Given the description of an element on the screen output the (x, y) to click on. 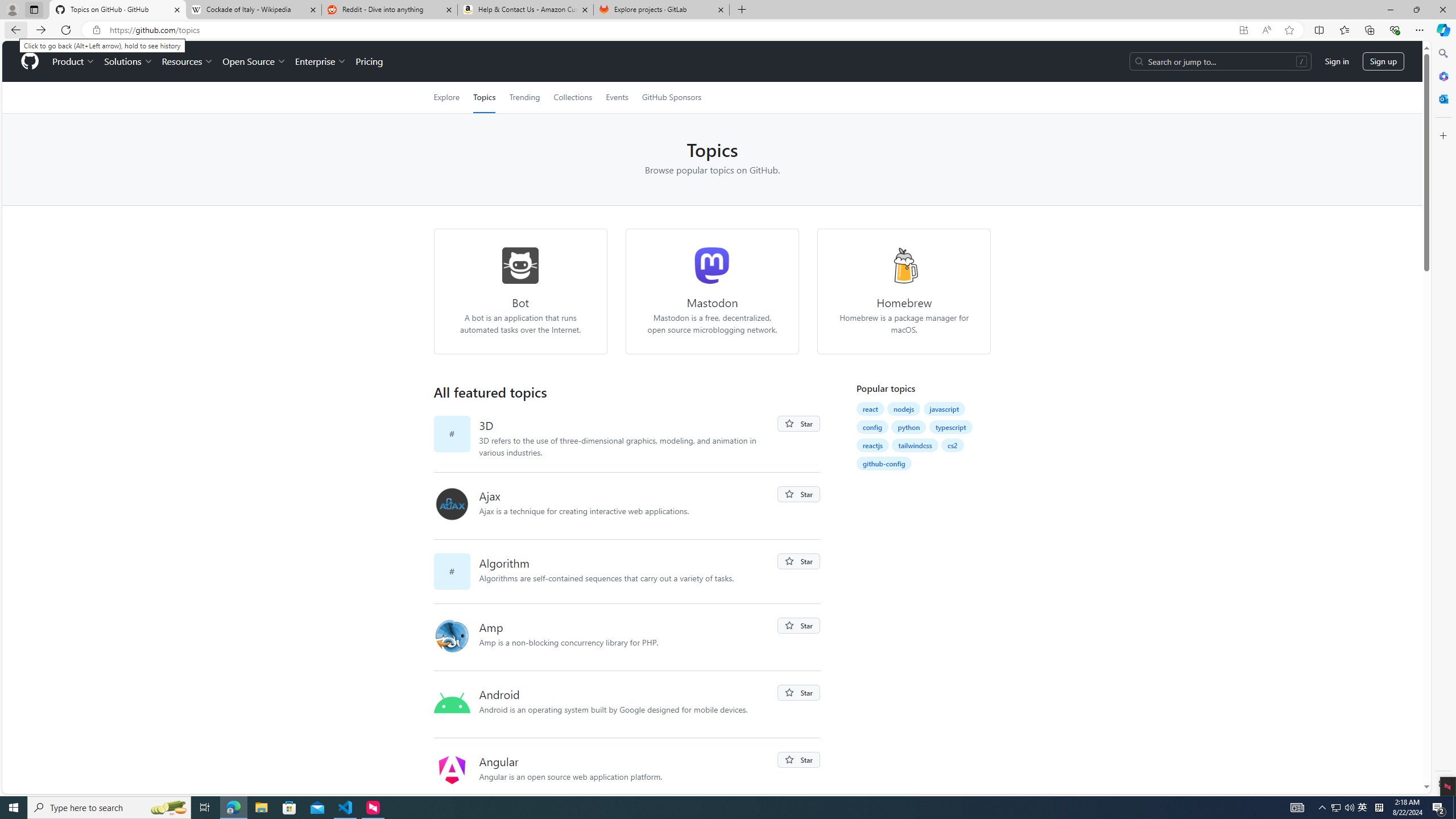
Product (74, 60)
Pricing (368, 60)
python (909, 426)
angular (451, 769)
Open Source (254, 60)
Reddit - Dive into anything (390, 9)
Trending (524, 97)
javascript (944, 409)
